Given the description of an element on the screen output the (x, y) to click on. 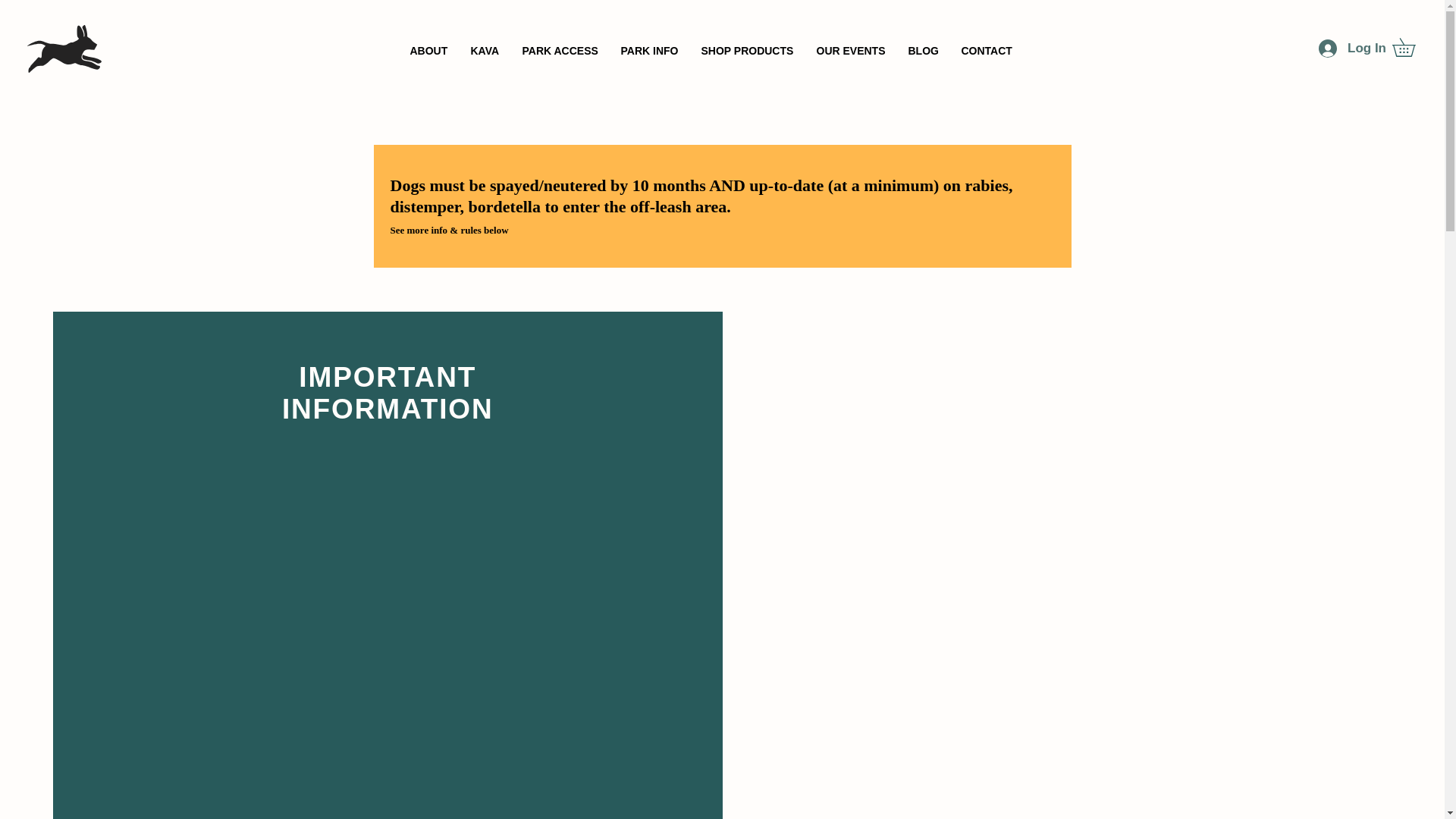
PARK INFO (650, 51)
PARK ACCESS (560, 51)
SHOP PRODUCTS (747, 51)
KAVA (485, 51)
CONTACT (986, 51)
OUR EVENTS (850, 51)
Log In (1350, 48)
BLOG (922, 51)
ABOUT (429, 51)
